Given the description of an element on the screen output the (x, y) to click on. 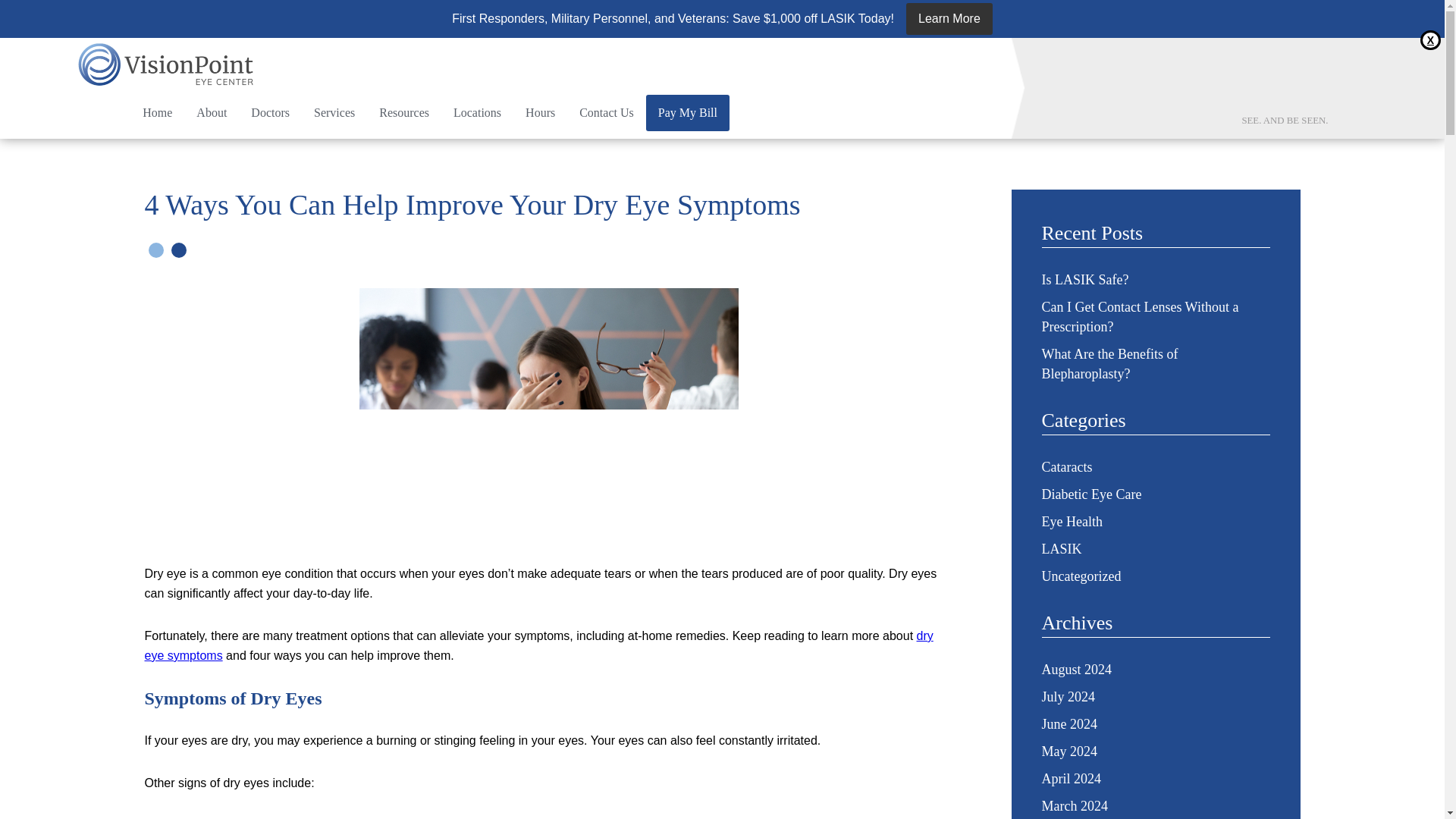
About (211, 113)
Doctors (269, 113)
VisionPoint Eye Center (157, 113)
Resources (403, 113)
Doctors (269, 113)
About (211, 113)
Learn More (948, 19)
Services (333, 113)
VisionPoint Eye Center - Click For the Homepage (166, 66)
Home (157, 113)
